Given the description of an element on the screen output the (x, y) to click on. 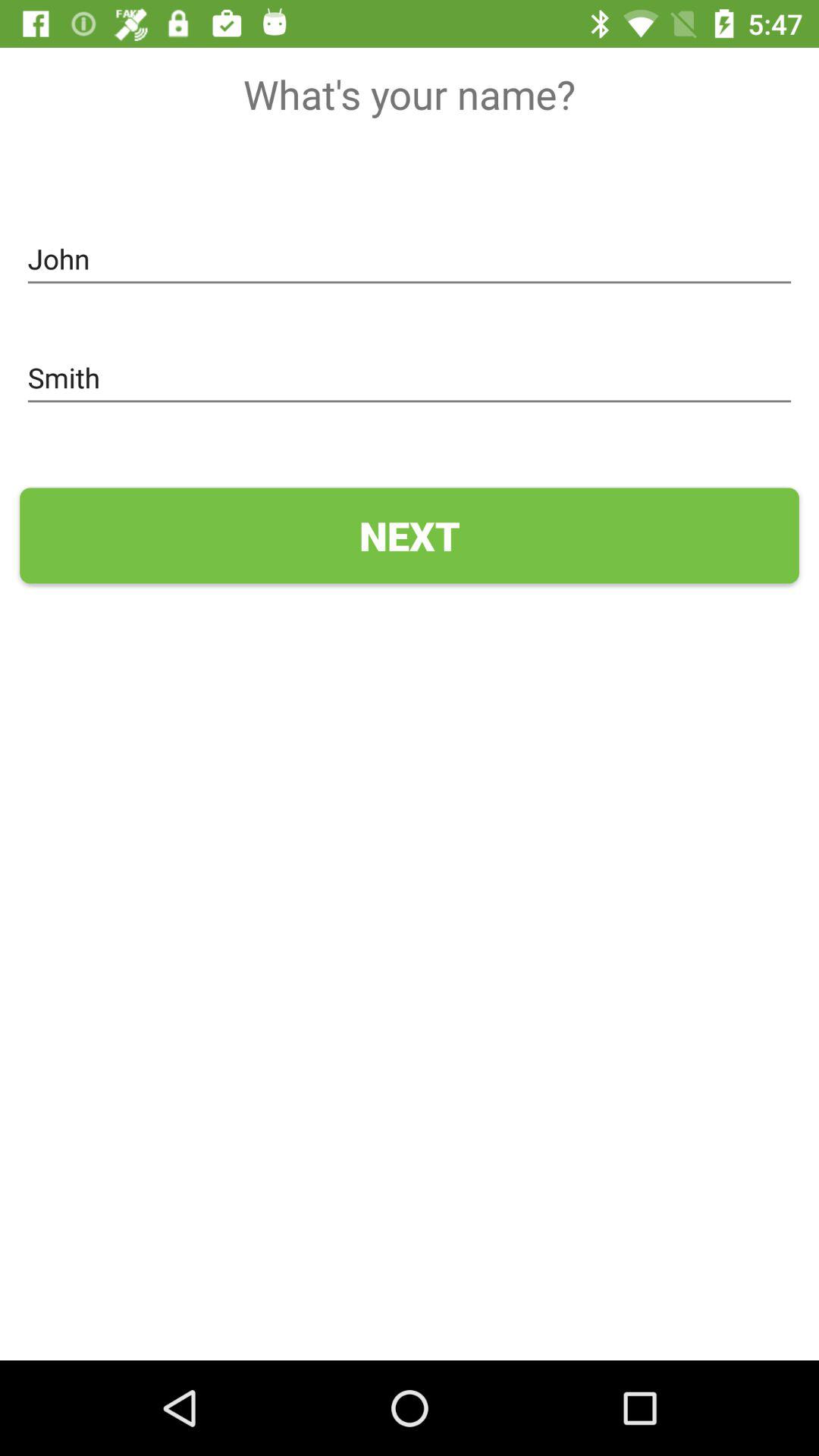
choose the smith item (409, 378)
